Given the description of an element on the screen output the (x, y) to click on. 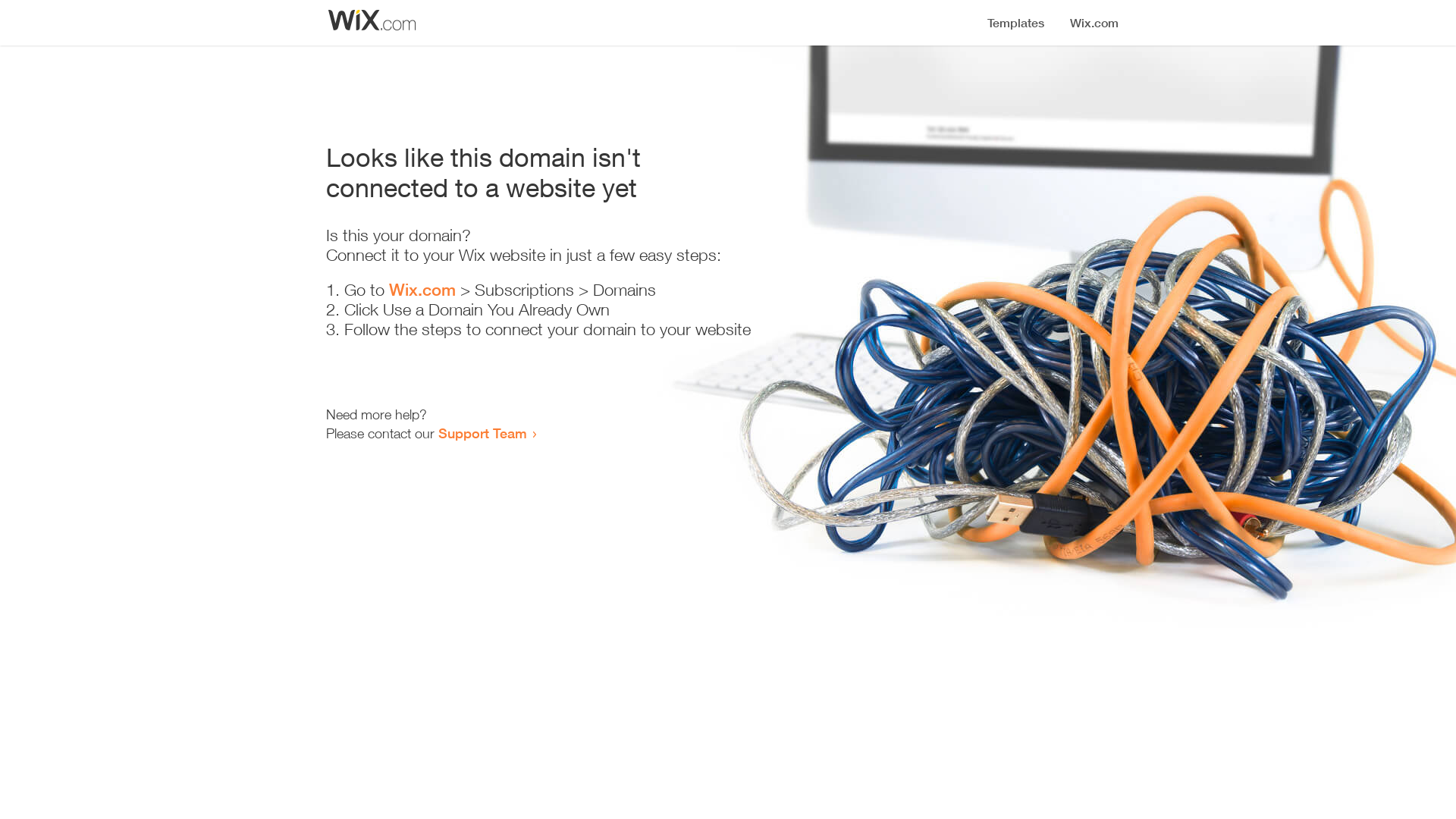
Support Team Element type: text (482, 432)
Wix.com Element type: text (422, 289)
